Given the description of an element on the screen output the (x, y) to click on. 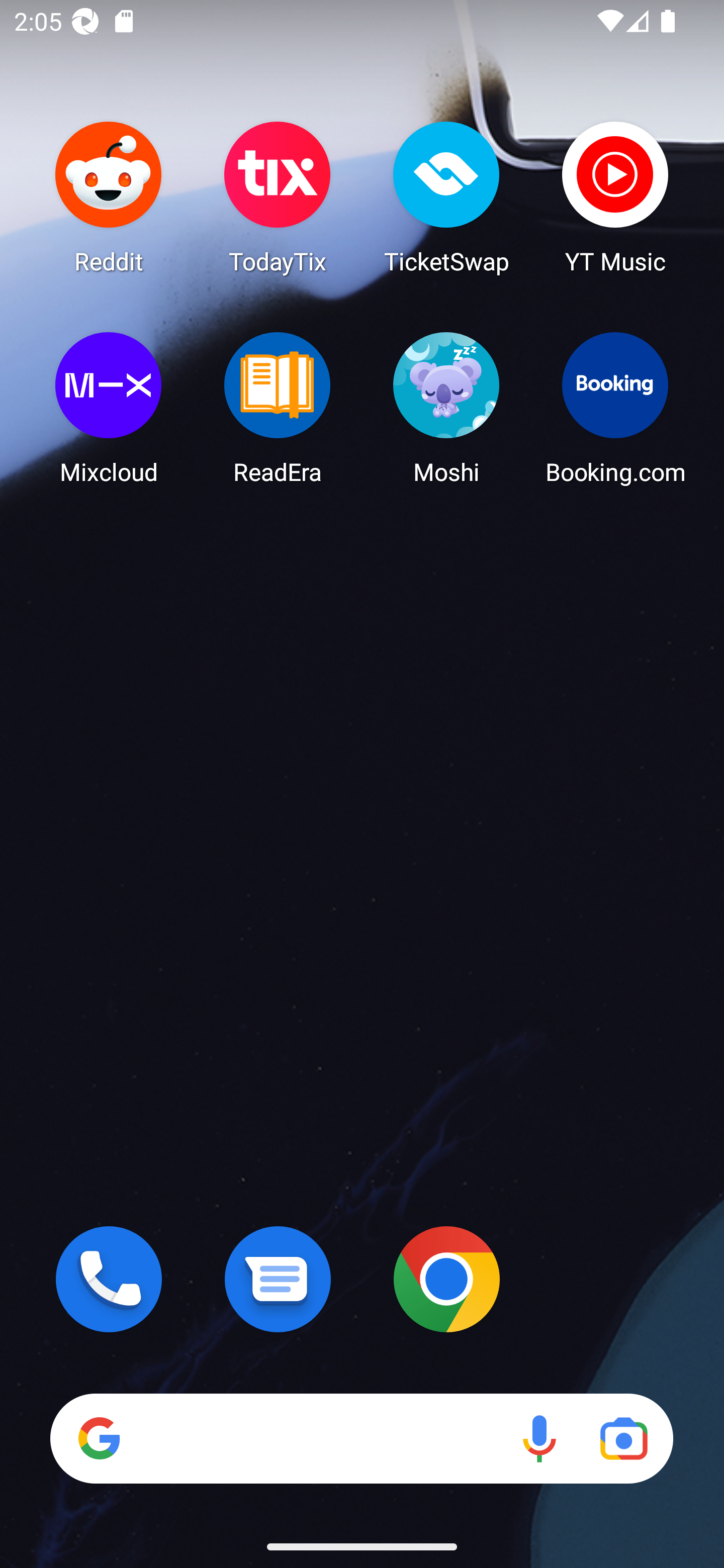
Reddit (108, 196)
TodayTix (277, 196)
TicketSwap (445, 196)
YT Music (615, 196)
Mixcloud (108, 407)
ReadEra (277, 407)
Moshi (445, 407)
Booking.com (615, 407)
Phone (108, 1279)
Messages (277, 1279)
Chrome (446, 1279)
Search Voice search Google Lens (361, 1438)
Voice search (539, 1438)
Google Lens (623, 1438)
